Given the description of an element on the screen output the (x, y) to click on. 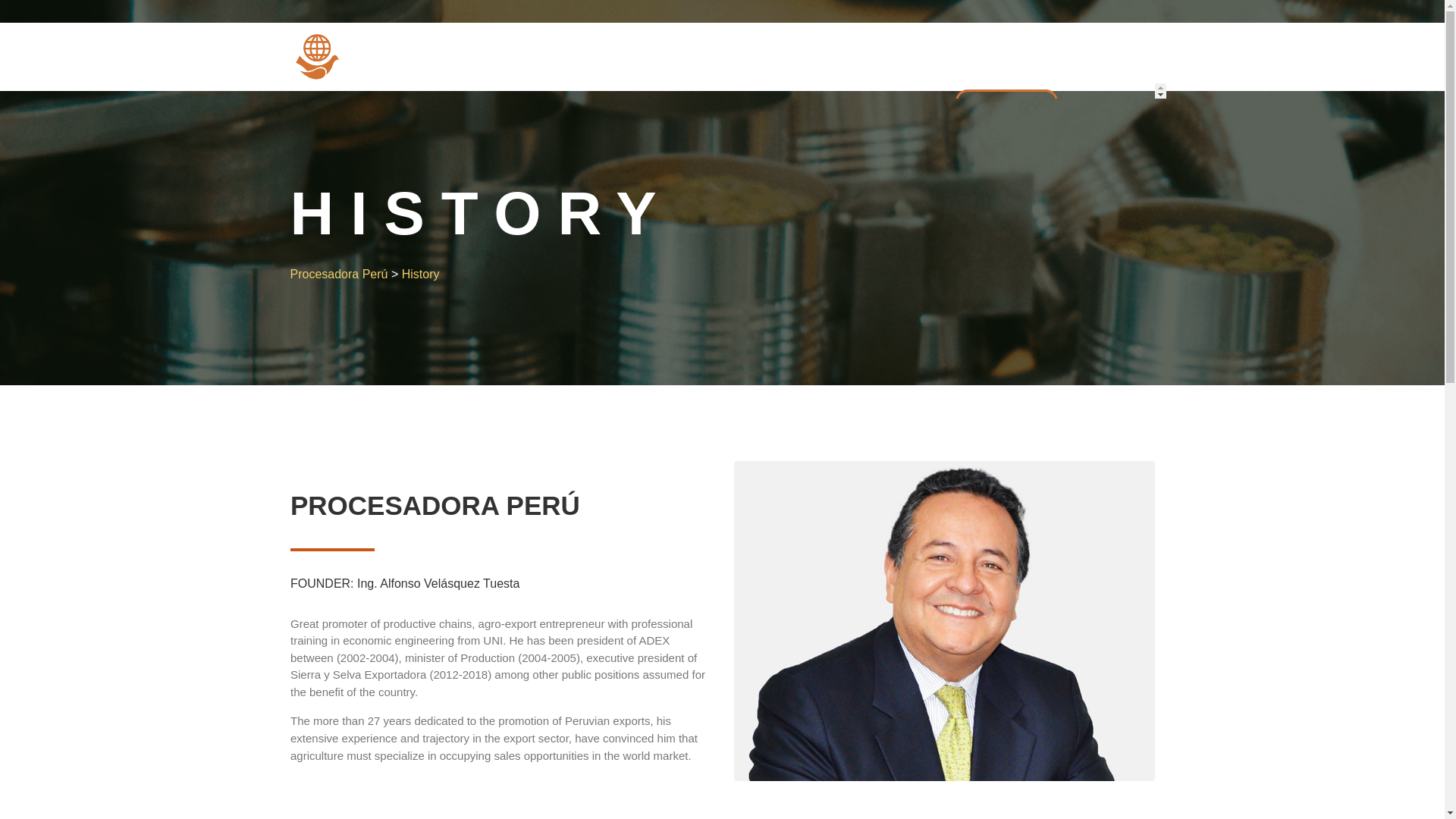
PRODUCTS (817, 117)
HISTORY (653, 117)
GALLERY (731, 117)
HOME (499, 117)
CONTACT (1006, 106)
ABOUT US (572, 117)
